Given the description of an element on the screen output the (x, y) to click on. 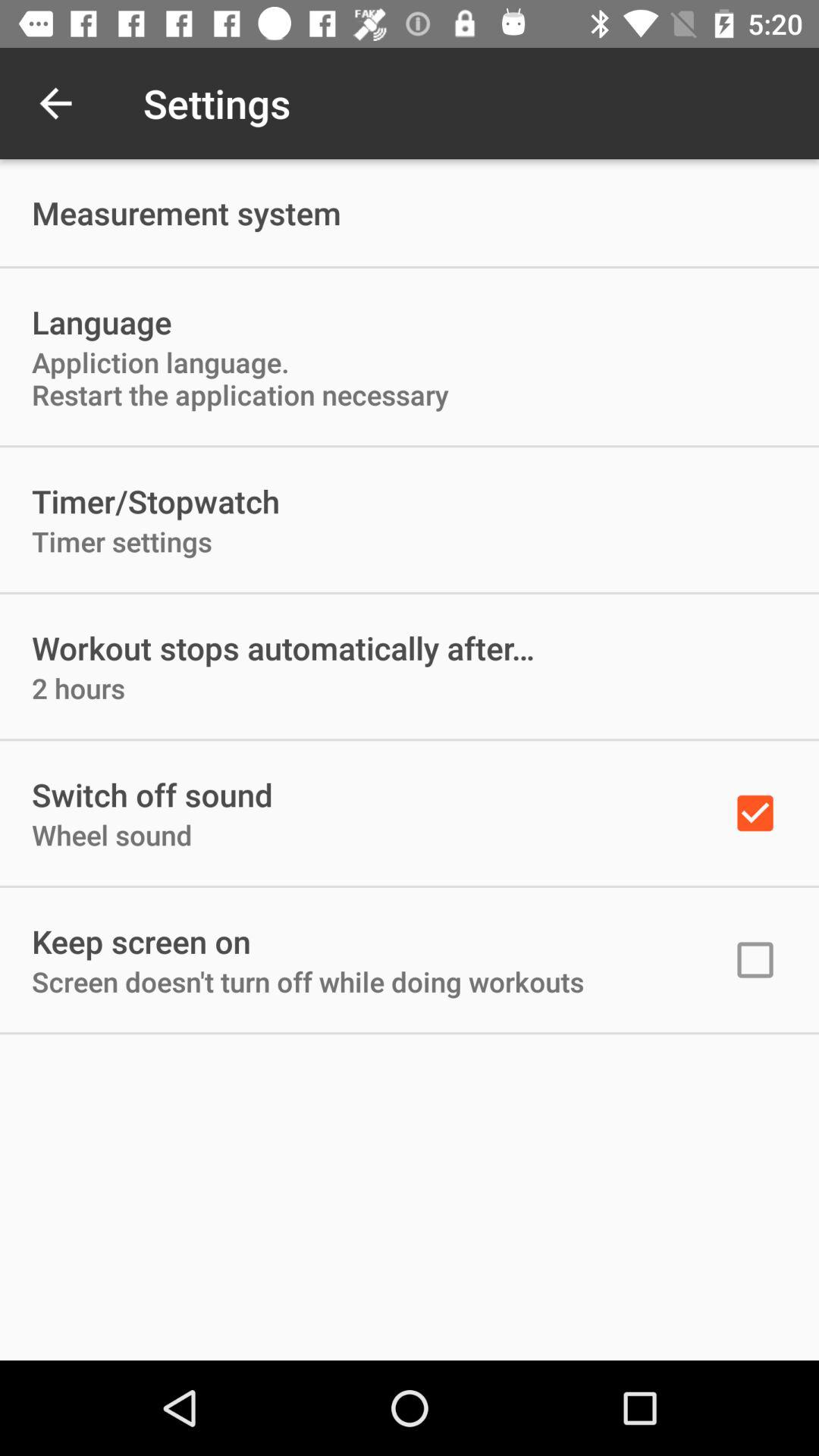
select the button which is right to the switch off sound (755, 813)
